Given the description of an element on the screen output the (x, y) to click on. 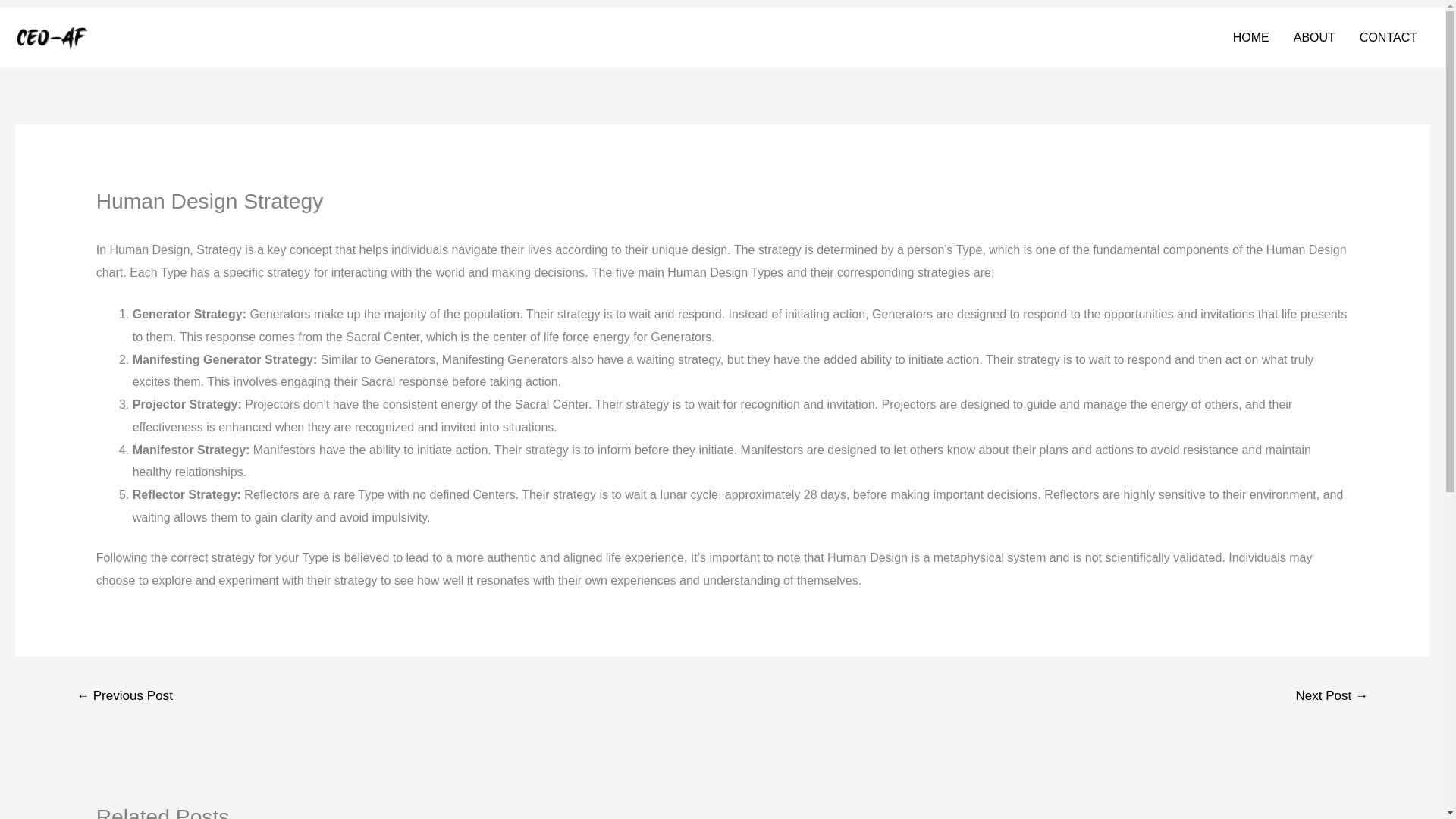
ABOUT (1314, 37)
HOME (1251, 37)
CONTACT (1388, 37)
